Given the description of an element on the screen output the (x, y) to click on. 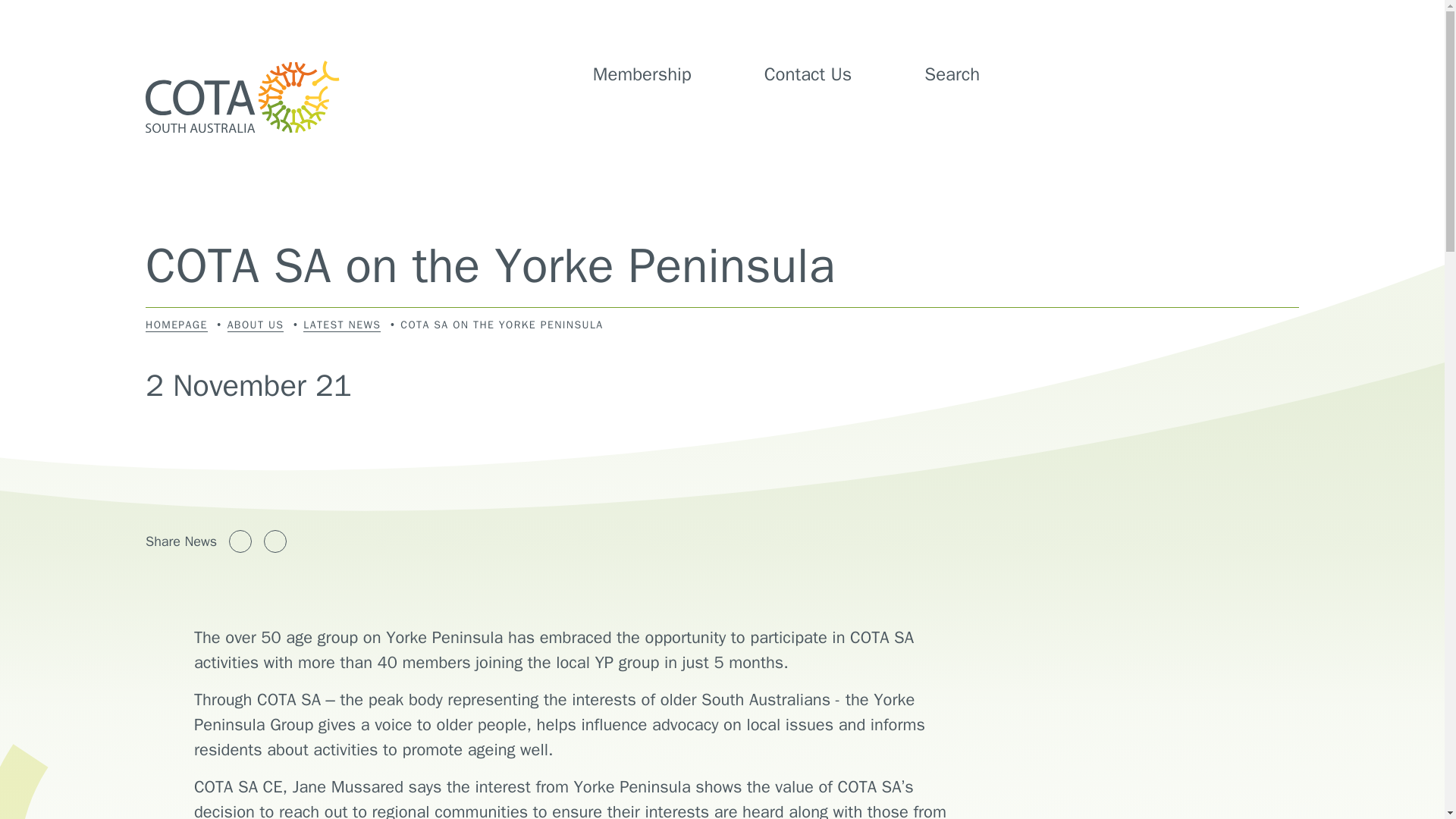
Contact Us (807, 73)
Membership (641, 73)
Search (970, 73)
